Given the description of an element on the screen output the (x, y) to click on. 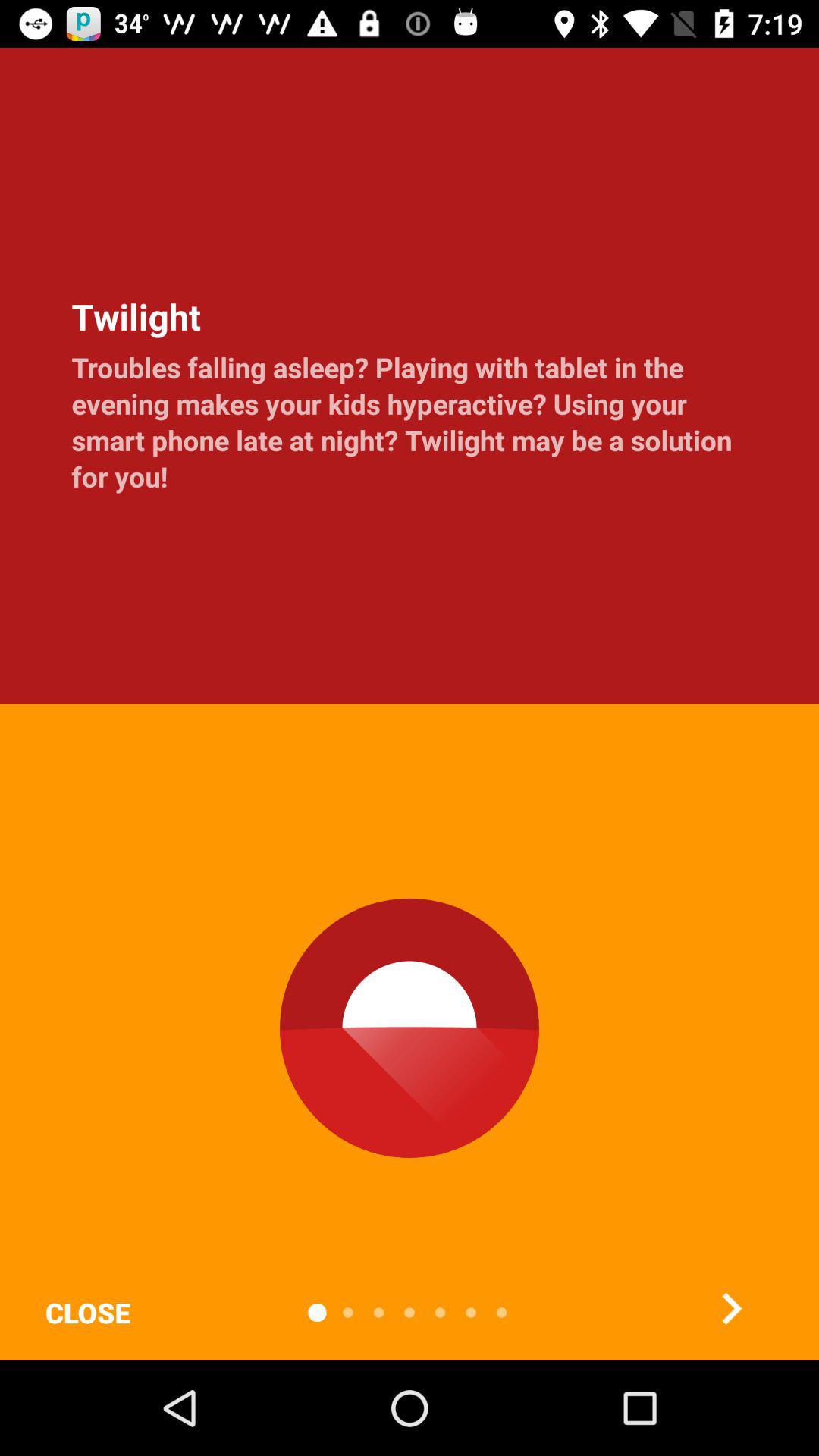
swipe to close item (87, 1312)
